Given the description of an element on the screen output the (x, y) to click on. 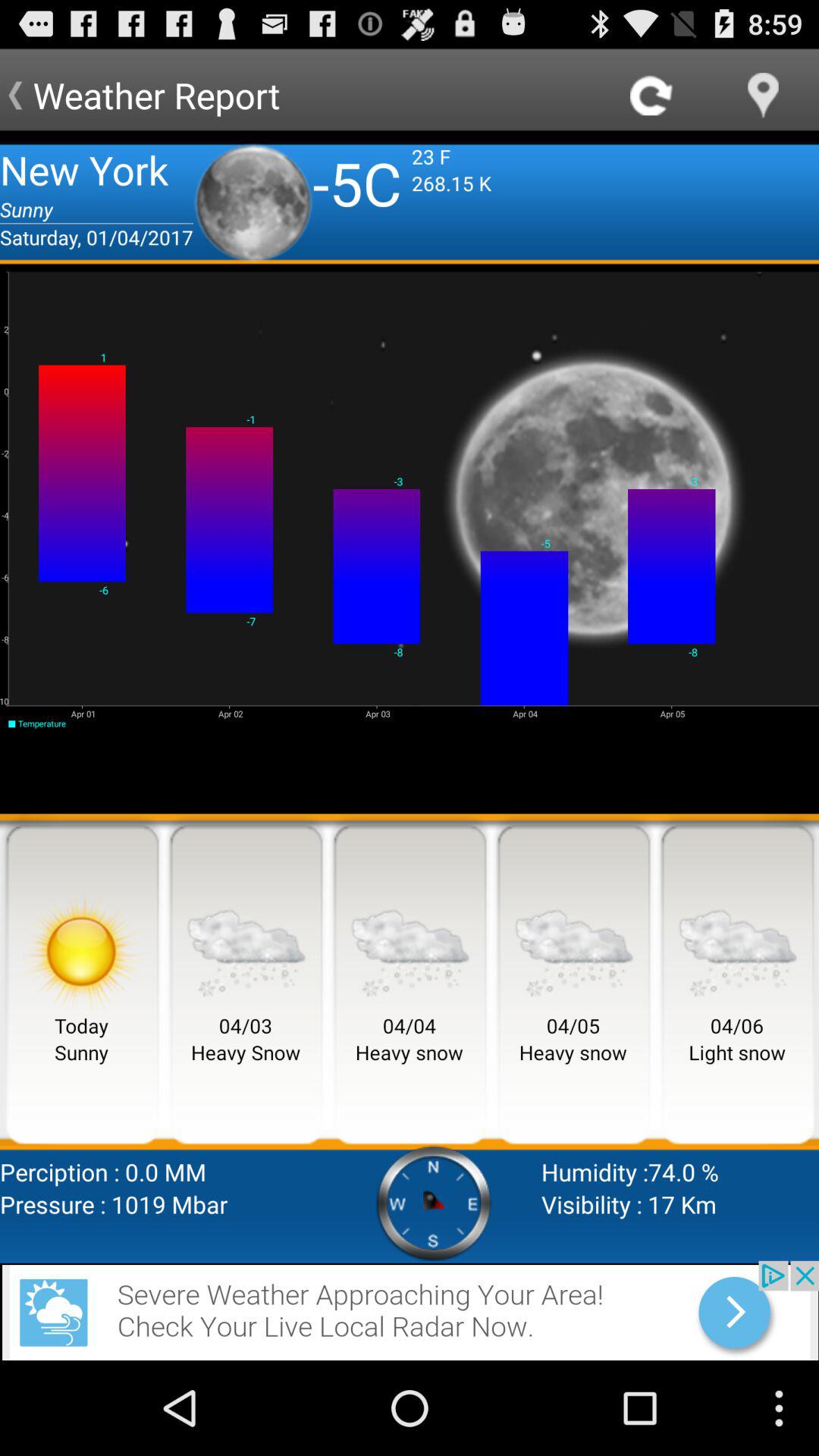
open maps (763, 95)
